Given the description of an element on the screen output the (x, y) to click on. 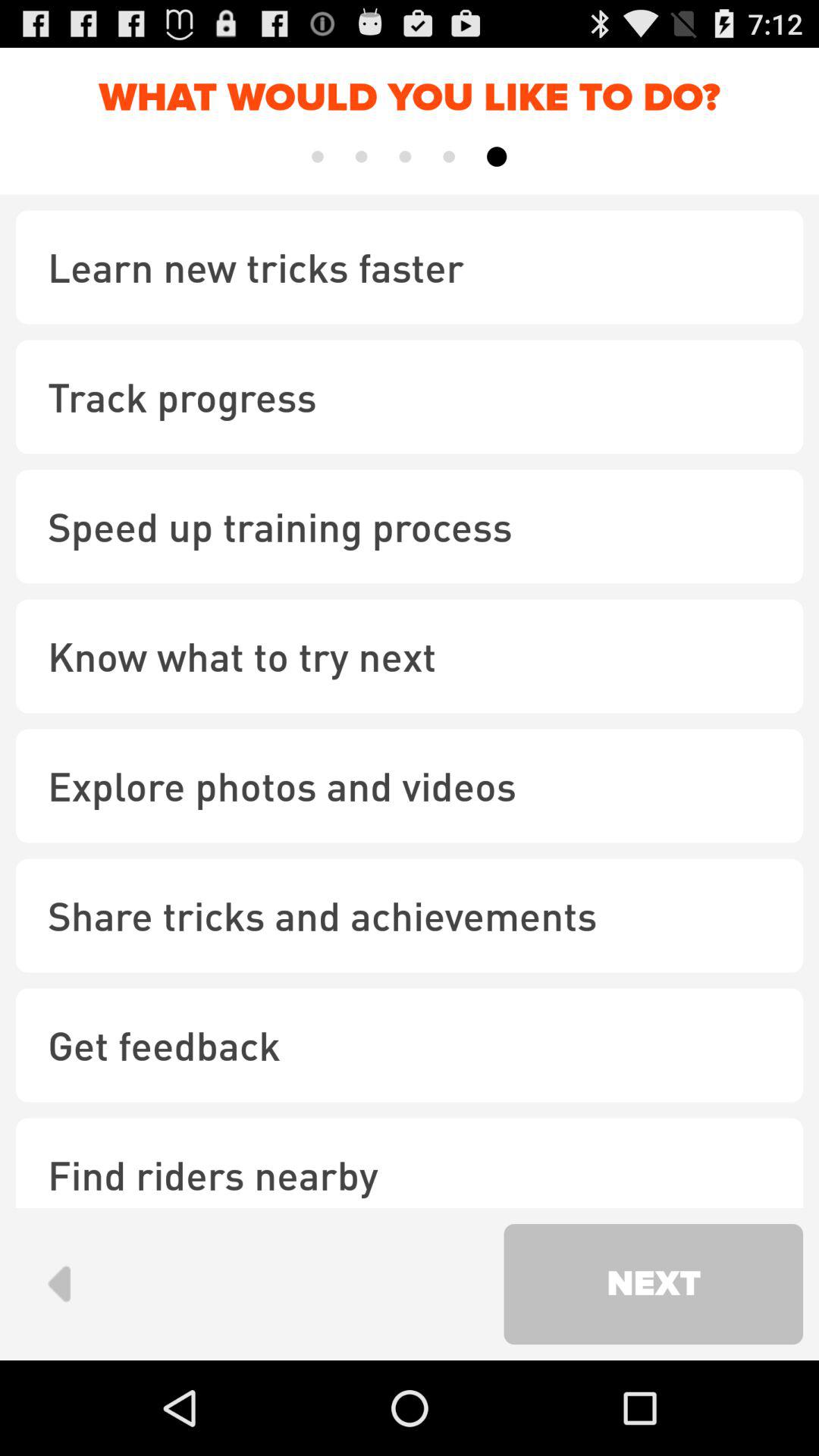
open the explore photos and checkbox (409, 785)
